Given the description of an element on the screen output the (x, y) to click on. 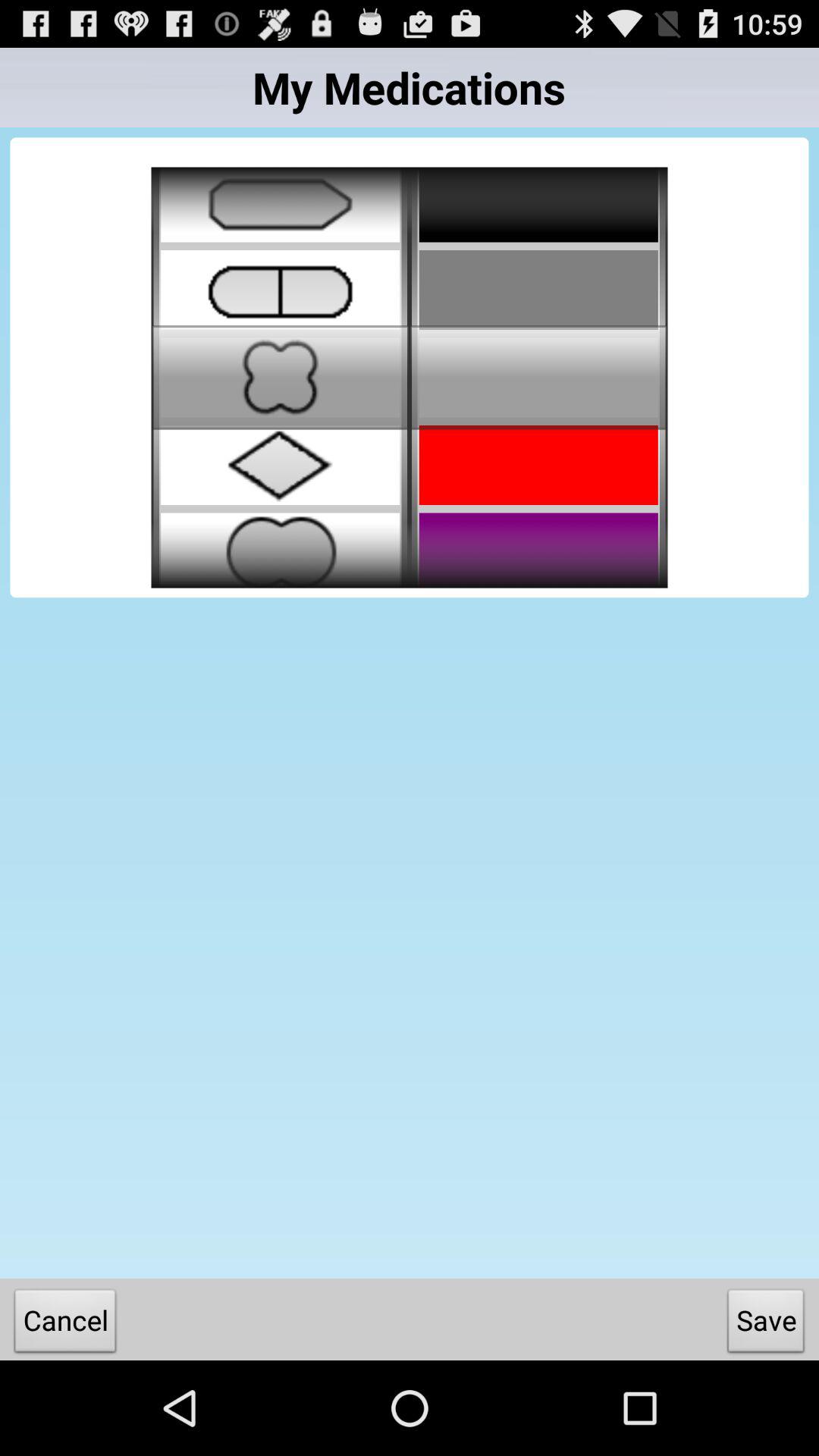
press item at the bottom right corner (765, 1324)
